Given the description of an element on the screen output the (x, y) to click on. 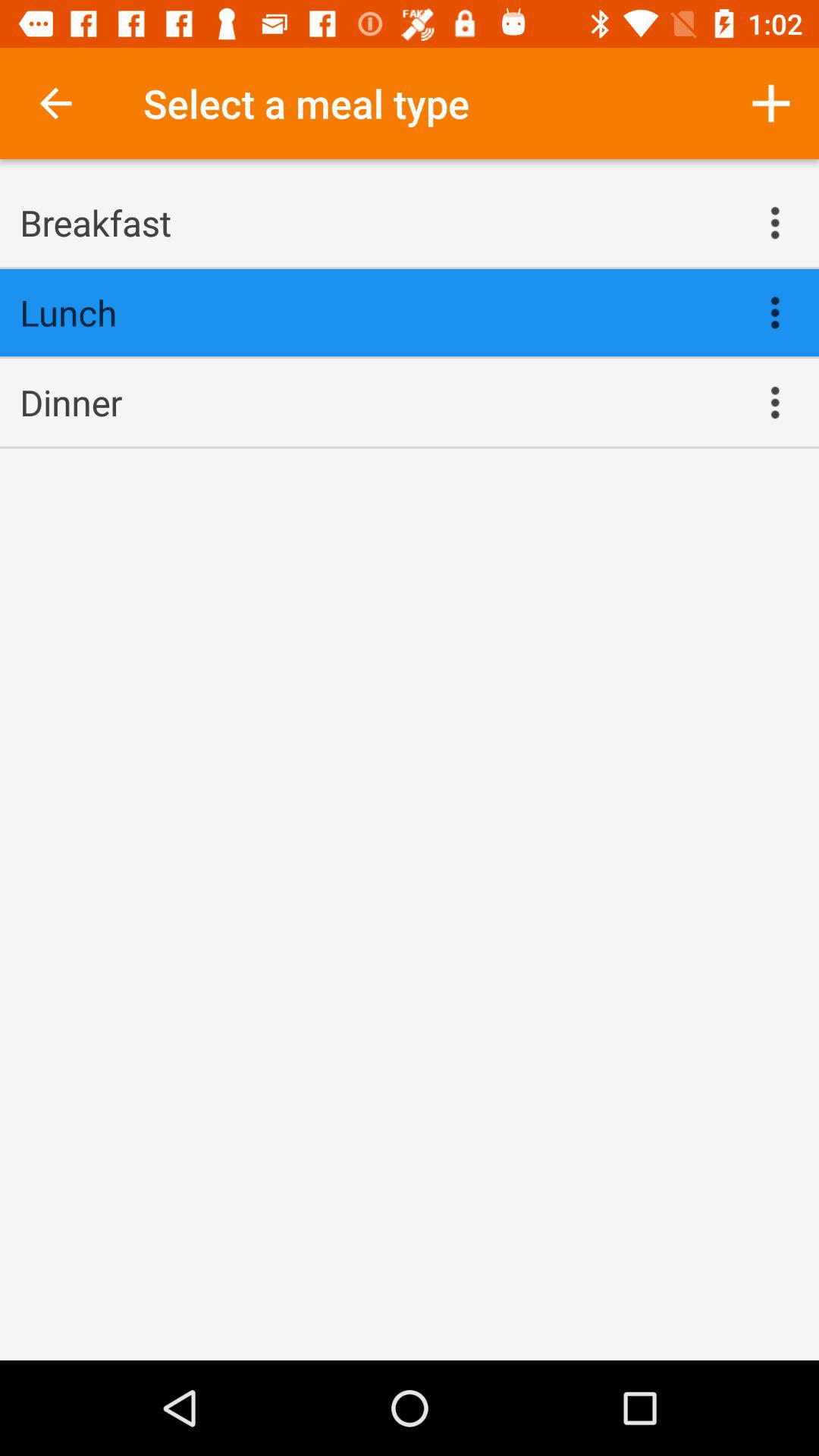
choose item at the top left corner (55, 103)
